Given the description of an element on the screen output the (x, y) to click on. 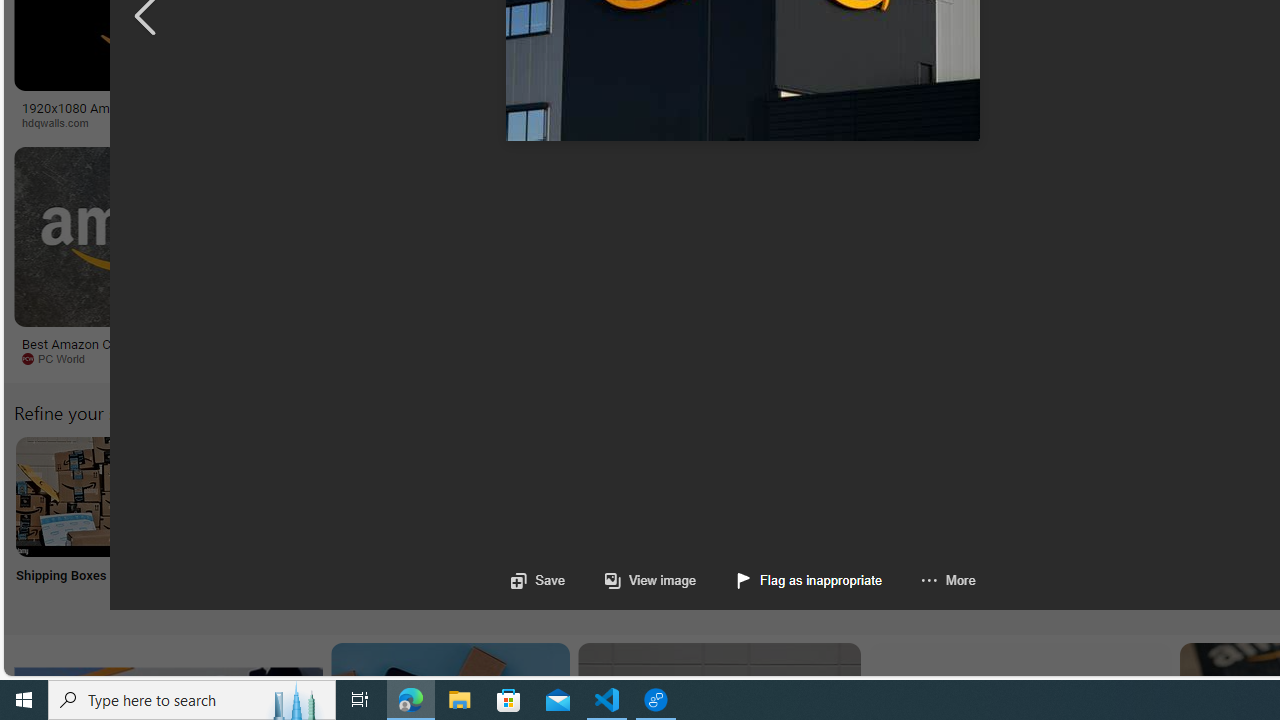
GOBankingRates (396, 121)
View image (630, 580)
Image result for amazon (936, 236)
Amazon Jobs Near Me Jobs Near Me (604, 521)
PC World (146, 359)
Marketplace (700, 121)
The Verge (335, 358)
